Given the description of an element on the screen output the (x, y) to click on. 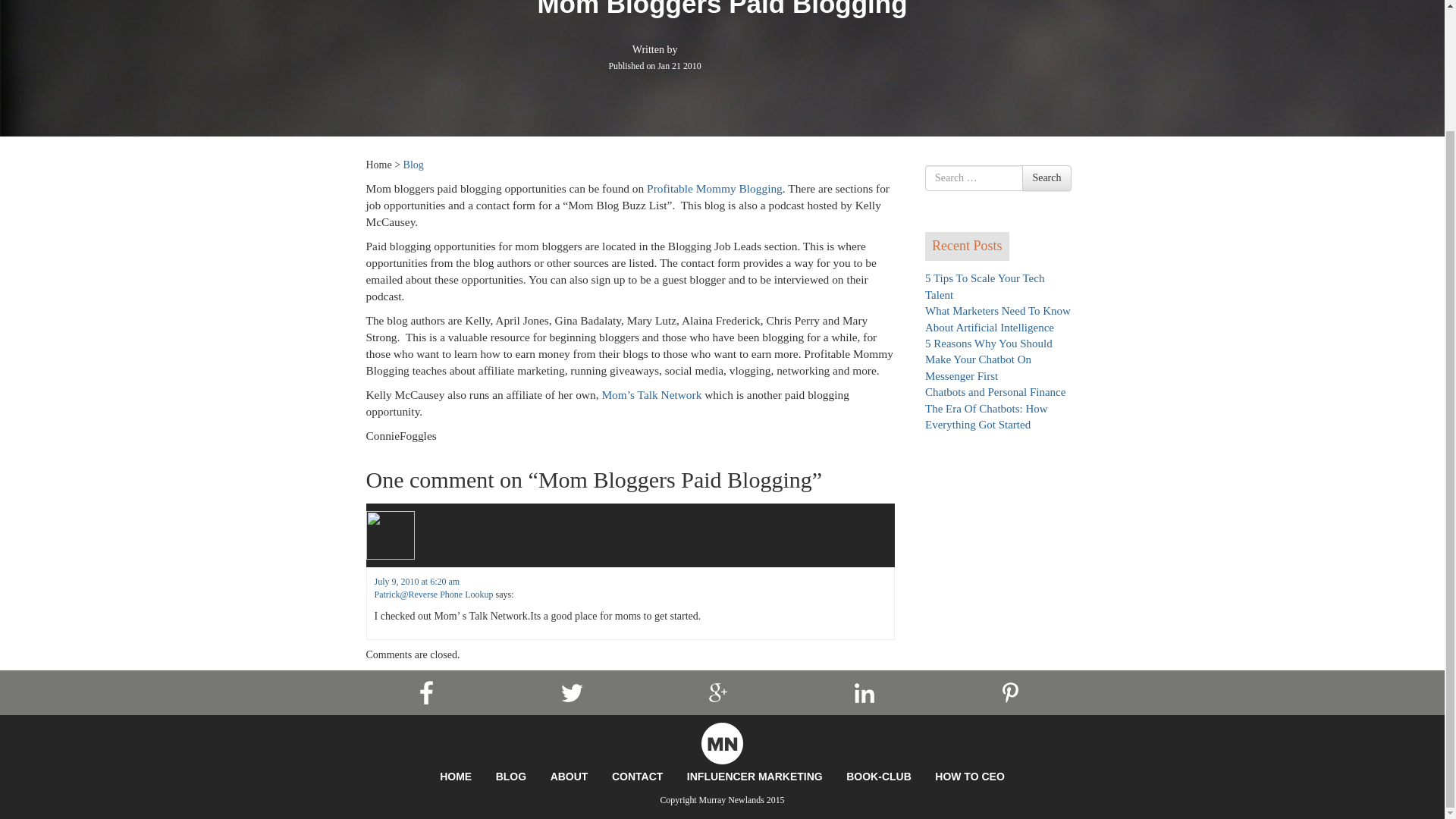
ABOUT (569, 776)
INFLUENCER MARKETING (754, 776)
5 Tips To Scale Your Tech Talent (983, 285)
Search for: (973, 177)
HOME (455, 776)
BOOK-CLUB (878, 776)
BLOG (510, 776)
HOW TO CEO (969, 776)
Blog (413, 164)
Profitable Mommy Blogging (714, 187)
July 9, 2010 at 6:20 am (417, 581)
Chatbots and Personal Finance (994, 391)
CONTACT (636, 776)
The Era Of Chatbots: How Everything Got Started (986, 416)
